Given the description of an element on the screen output the (x, y) to click on. 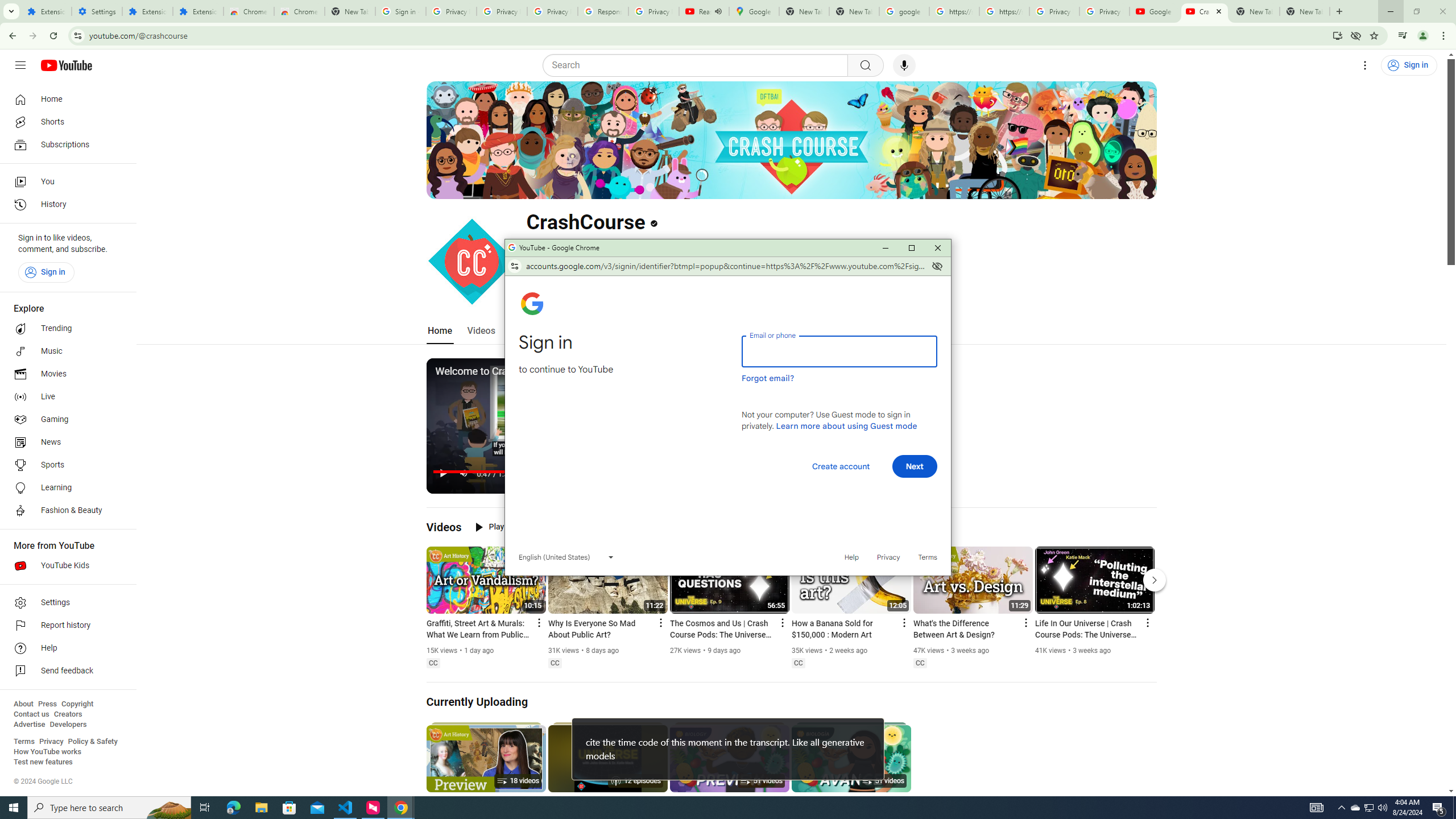
Subscriptions (64, 144)
YouTube Kids (64, 565)
Pause (k) (443, 472)
Closed captions (919, 662)
Music (1355, 807)
Developers (64, 350)
Send feedback (68, 724)
Videos (64, 671)
Extensions (481, 330)
